Given the description of an element on the screen output the (x, y) to click on. 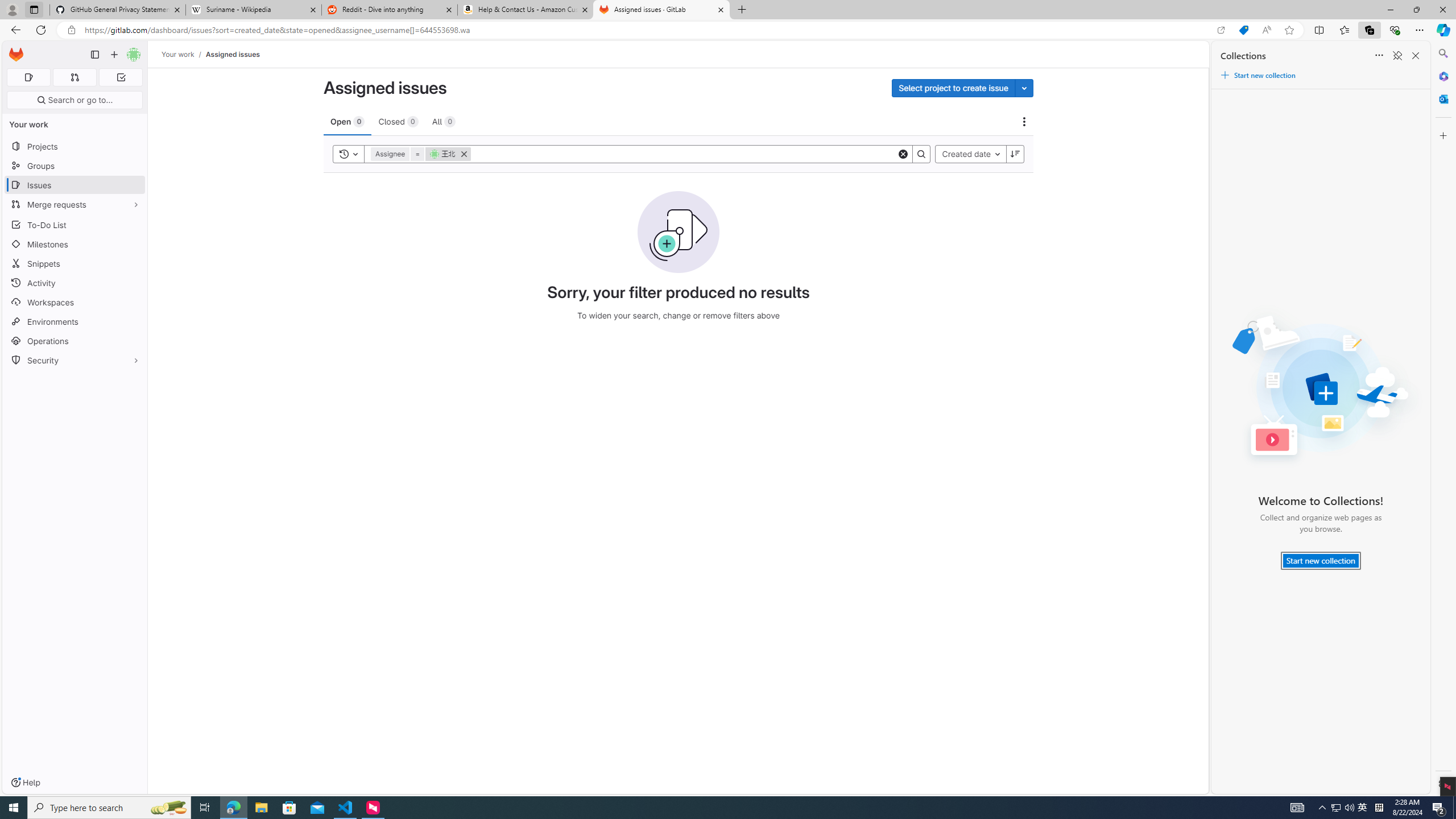
Help & Contact Us - Amazon Customer Service (525, 9)
Security (74, 359)
Close Collections (1415, 55)
Created date (970, 153)
Suriname - Wikipedia (253, 9)
Homepage (16, 54)
Primary navigation sidebar (94, 54)
Your work/ (183, 53)
Security (74, 359)
Open in app (1220, 29)
